Given the description of an element on the screen output the (x, y) to click on. 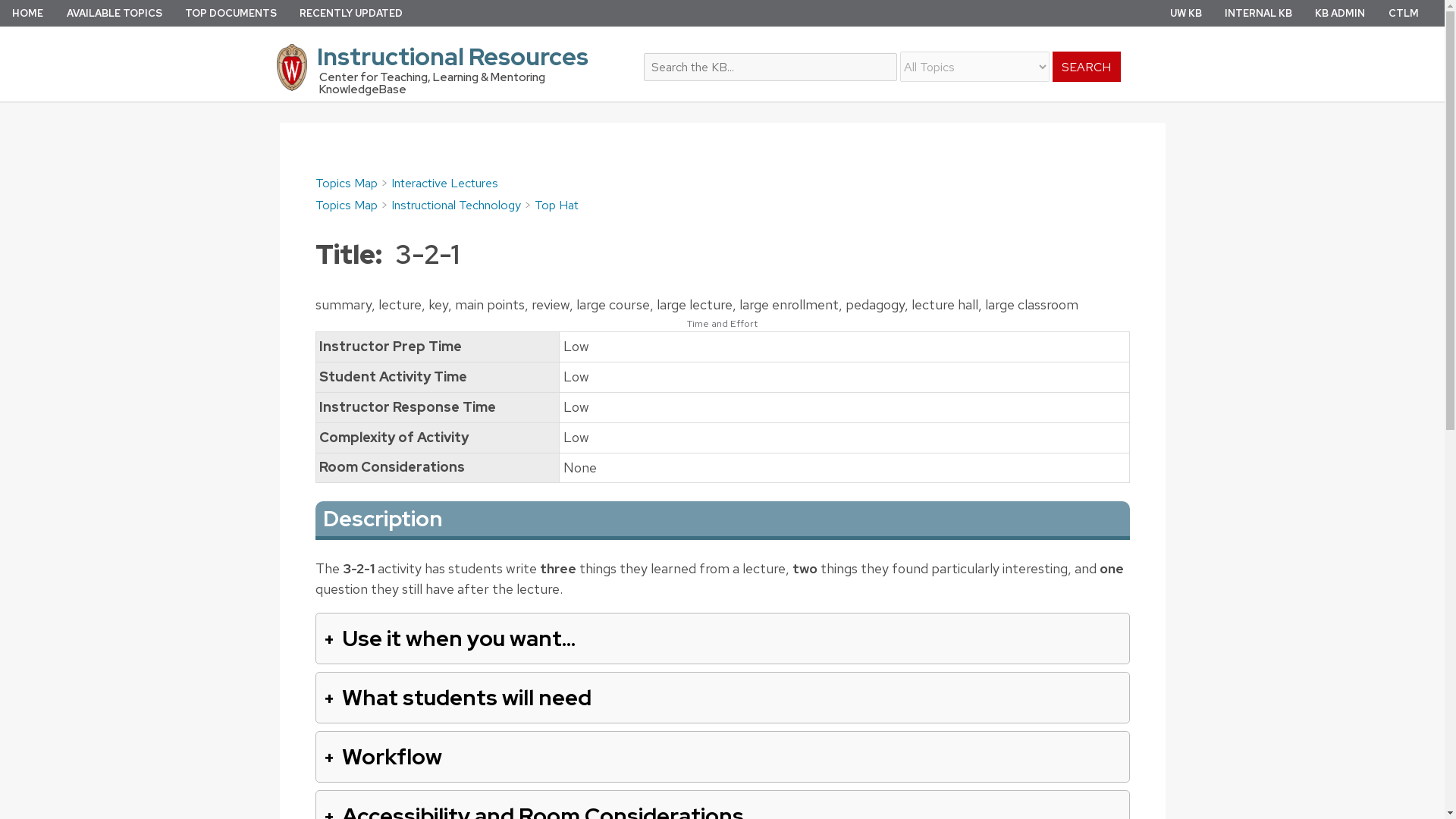
Interactive Lectures (444, 182)
AVAILABLE TOPICS (113, 12)
CTLM (1403, 12)
SEARCH (1086, 66)
SEARCH (1086, 66)
Instructional Resources (448, 66)
INTERNAL KB (1258, 12)
RECENTLY UPDATED (351, 12)
KB ADMIN (1339, 12)
Search (903, 57)
SEARCH (1086, 66)
Topics Map (346, 182)
HOME (27, 12)
Topics Map (346, 204)
TOP DOCUMENTS (230, 12)
